Given the description of an element on the screen output the (x, y) to click on. 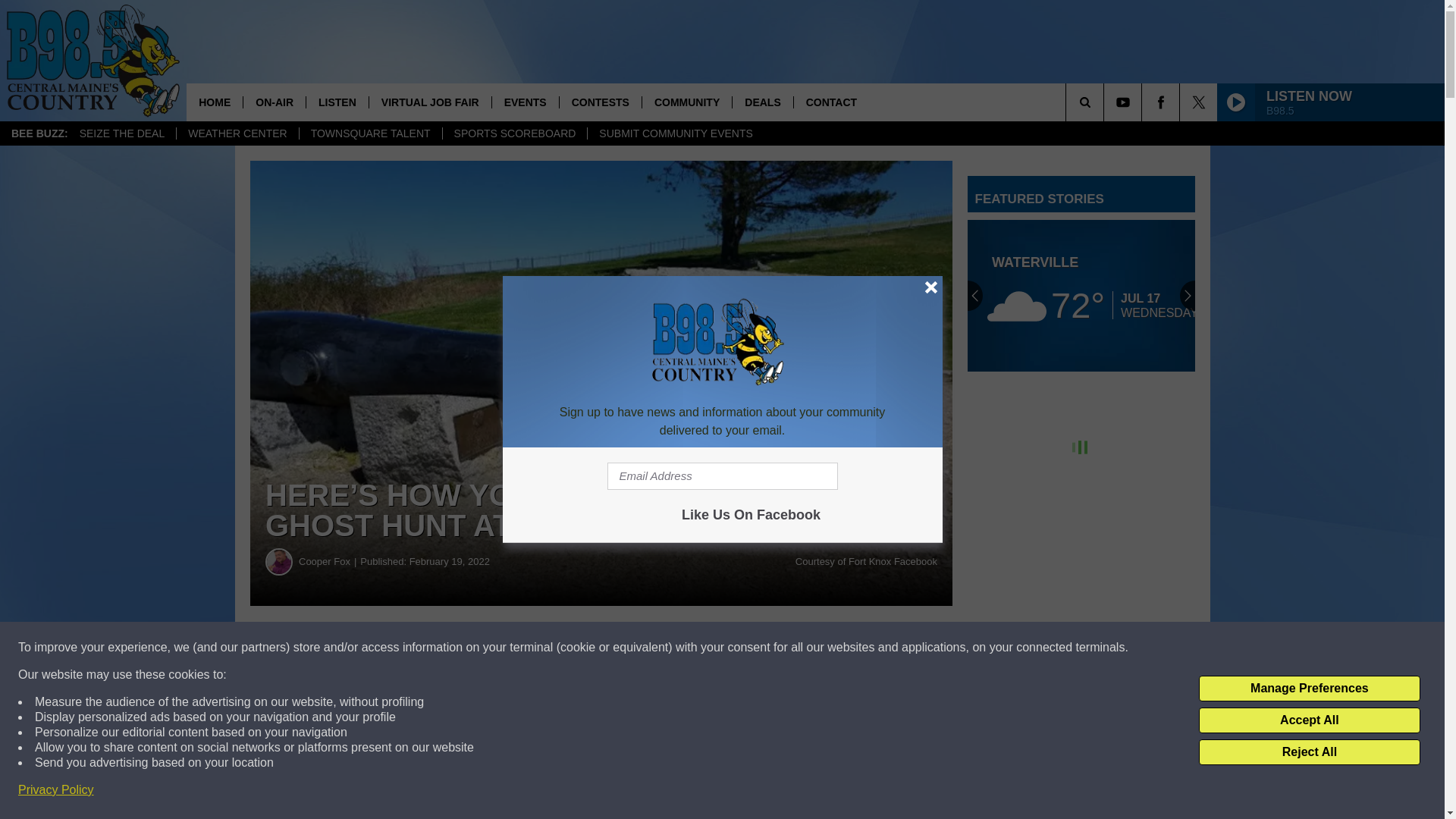
SPORTS SCOREBOARD (515, 133)
VIRTUAL JOB FAIR (430, 102)
SEARCH (1106, 102)
Waterville Weather (1081, 295)
ON-AIR (274, 102)
WEATHER CENTER (237, 133)
Accept All (1309, 720)
HOME (214, 102)
SEARCH (1106, 102)
COMMUNITY (687, 102)
Share on Facebook (460, 647)
Reject All (1309, 751)
EVENTS (525, 102)
SEIZE THE DEAL (122, 133)
Email Address (722, 475)
